Given the description of an element on the screen output the (x, y) to click on. 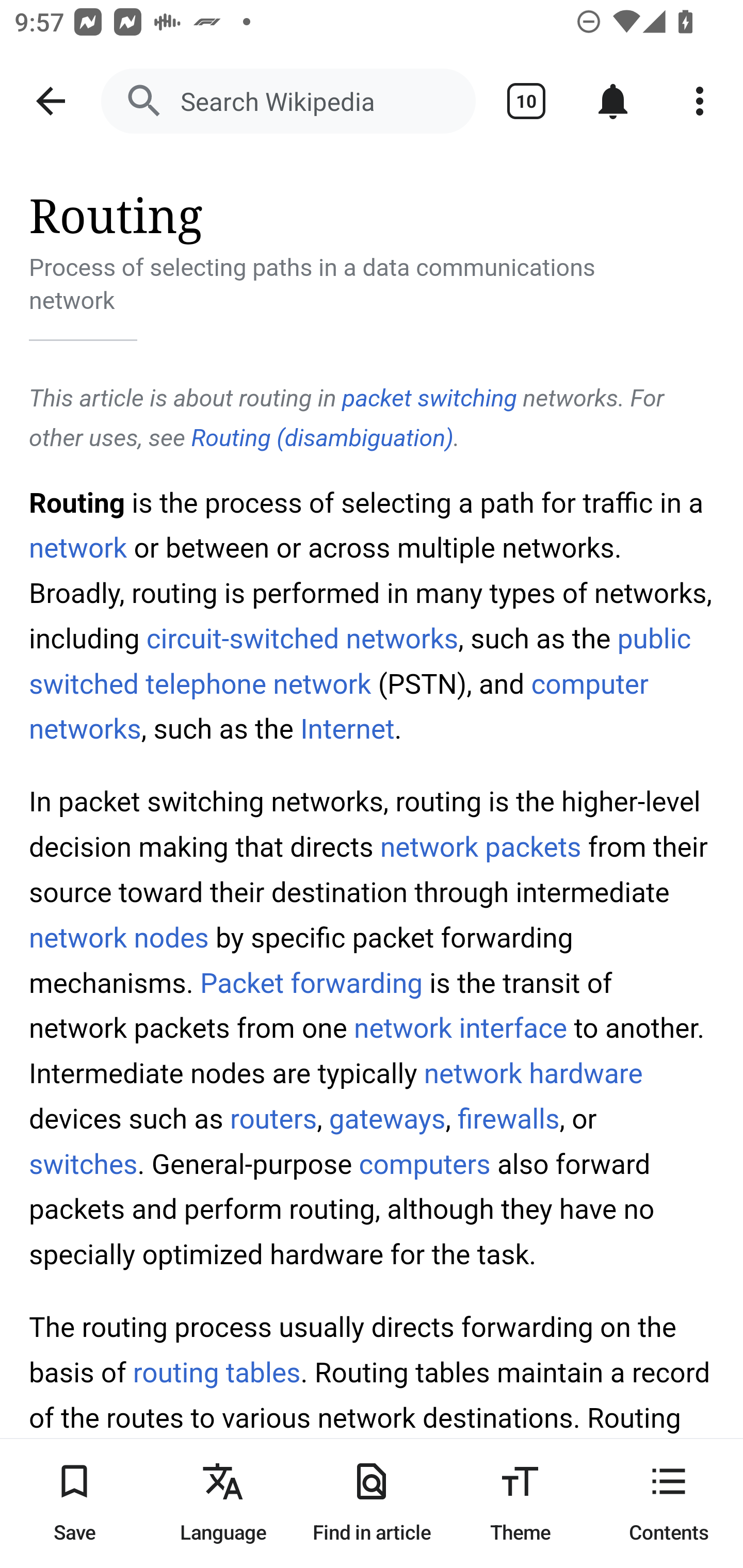
Show tabs 10 (525, 100)
Notifications (612, 100)
Navigate up (50, 101)
More options (699, 101)
Search Wikipedia (288, 100)
packet switching (429, 397)
Routing (disambiguation) (321, 437)
network (77, 546)
public switched telephone network (359, 661)
circuit-switched networks (301, 637)
computer networks (339, 707)
Internet (347, 730)
network packets (479, 847)
network nodes (118, 937)
Packet forwarding (311, 982)
network interface (460, 1027)
network hardware (533, 1073)
routers (273, 1117)
gateways (386, 1117)
firewalls (507, 1117)
switches (83, 1163)
computers (424, 1163)
routing tables (216, 1372)
Save (74, 1502)
Language (222, 1502)
Find in article (371, 1502)
Theme (519, 1502)
Contents (668, 1502)
